Given the description of an element on the screen output the (x, y) to click on. 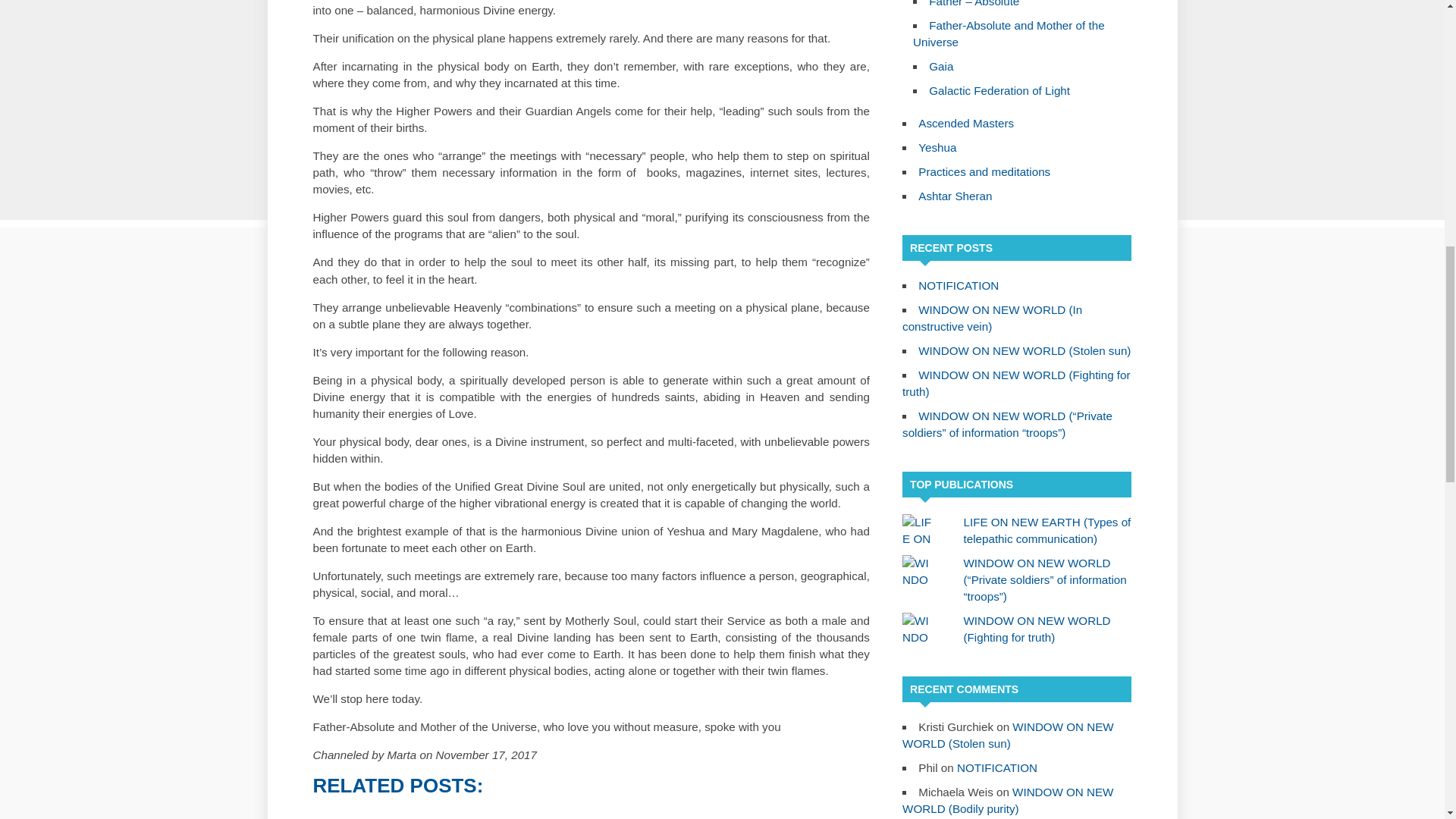
Practices and meditations (983, 171)
NOTIFICATION (958, 285)
Galactic Federation of Light (999, 90)
Father-Absolute and Mother of the Universe (1008, 33)
Ashtar Sheran (954, 195)
Gaia (940, 65)
Yeshua (937, 146)
Ascended Masters (965, 123)
